Given the description of an element on the screen output the (x, y) to click on. 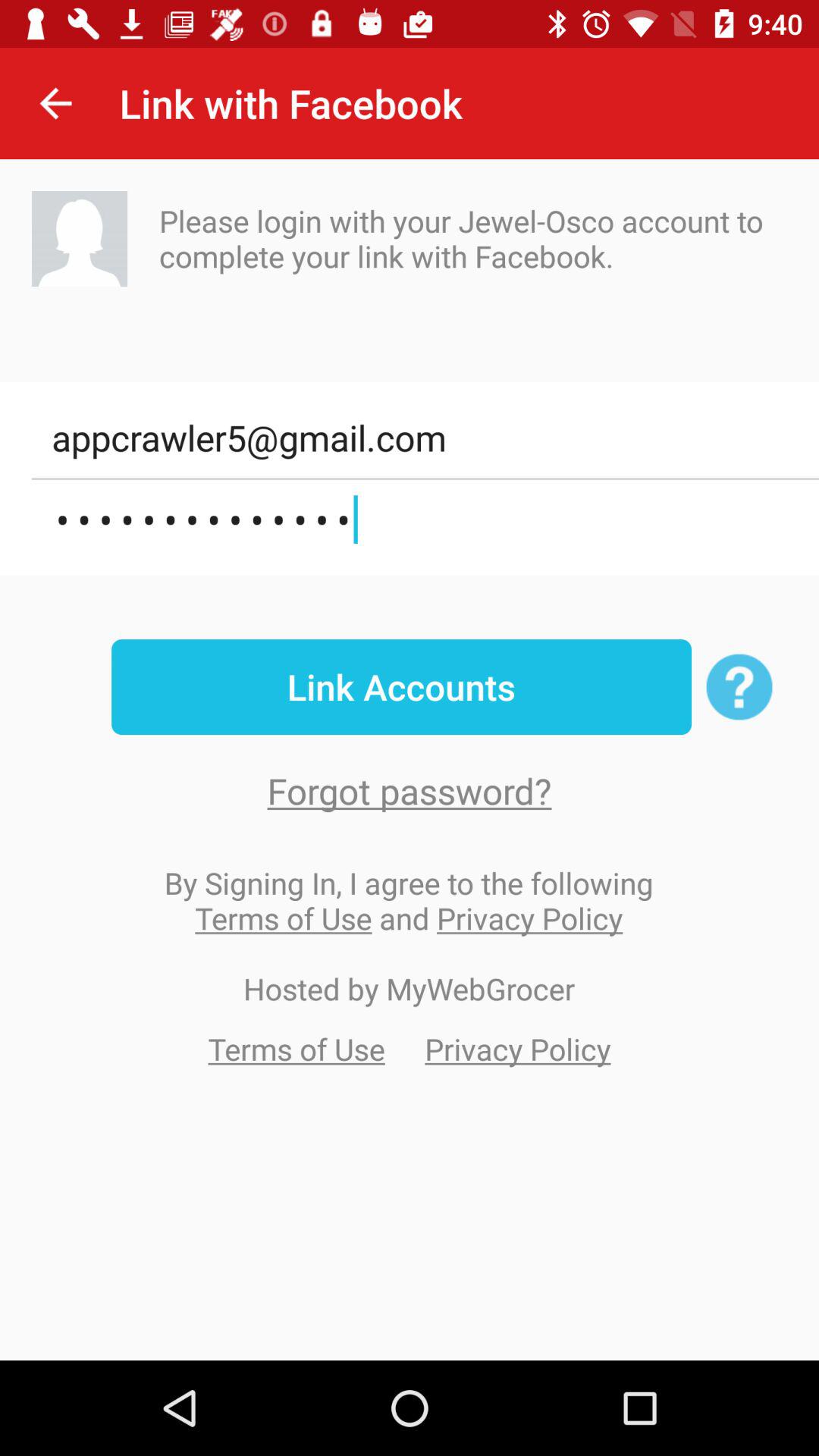
select the by signing in item (408, 900)
